Given the description of an element on the screen output the (x, y) to click on. 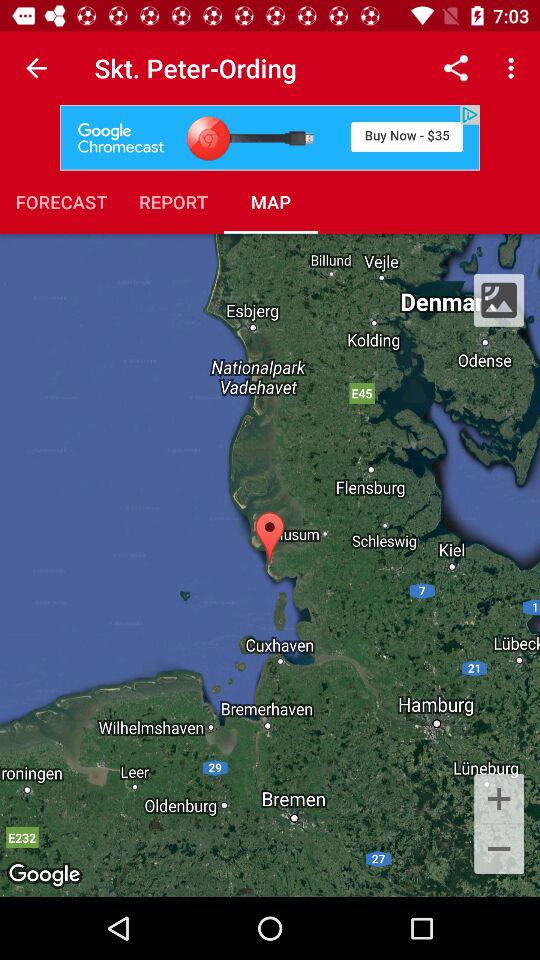
launch item to the left of skt. peter-ording (36, 68)
